Given the description of an element on the screen output the (x, y) to click on. 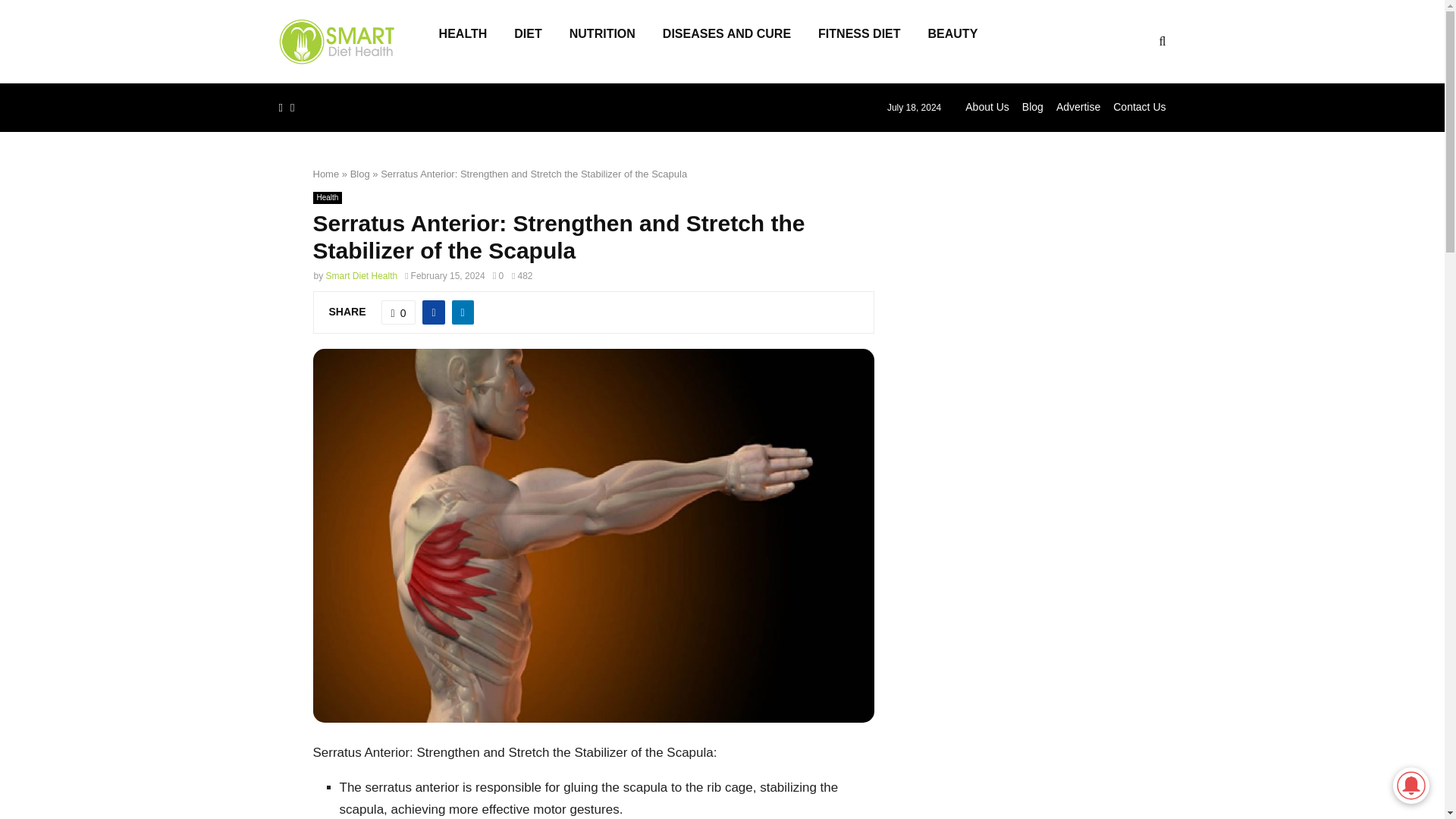
Like (398, 312)
0 (498, 276)
Blog (1032, 106)
0 (398, 312)
Blog (359, 173)
FITNESS DIET (859, 41)
Home (326, 173)
BEAUTY (952, 41)
HEALTH (462, 41)
Health (327, 197)
Smart Diet Health (361, 276)
DISEASES AND CURE (727, 41)
About Us (987, 106)
NUTRITION (602, 41)
Advertise (1078, 106)
